Given the description of an element on the screen output the (x, y) to click on. 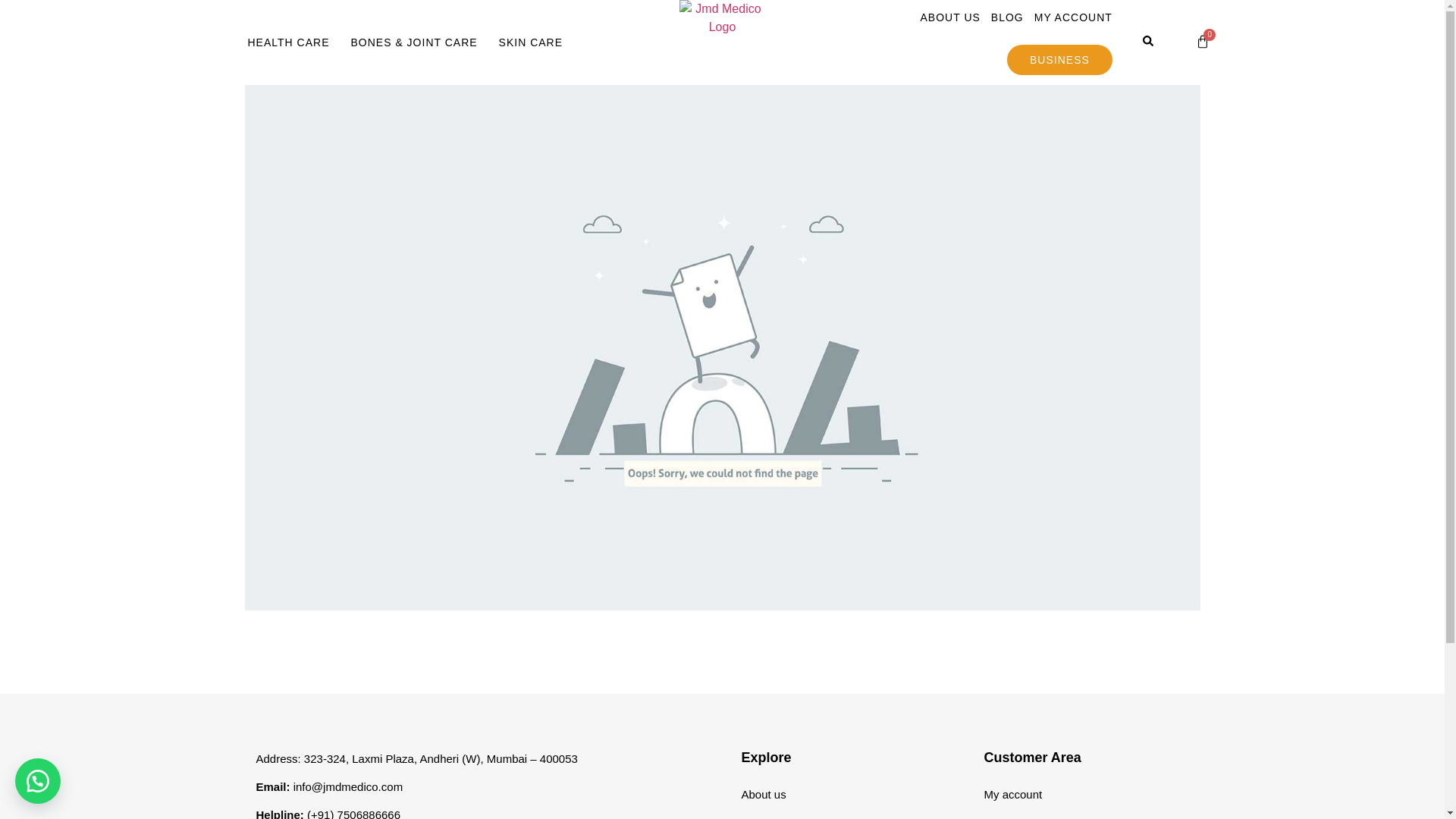
BUSINESS (1059, 60)
MY ACCOUNT (1073, 17)
ABOUT US (950, 17)
0 (1202, 42)
BLOG (1007, 17)
Jmd Medico Logo (722, 18)
Shop (843, 814)
About us (843, 794)
SKIN CARE (530, 42)
HEALTH CARE (287, 42)
